Given the description of an element on the screen output the (x, y) to click on. 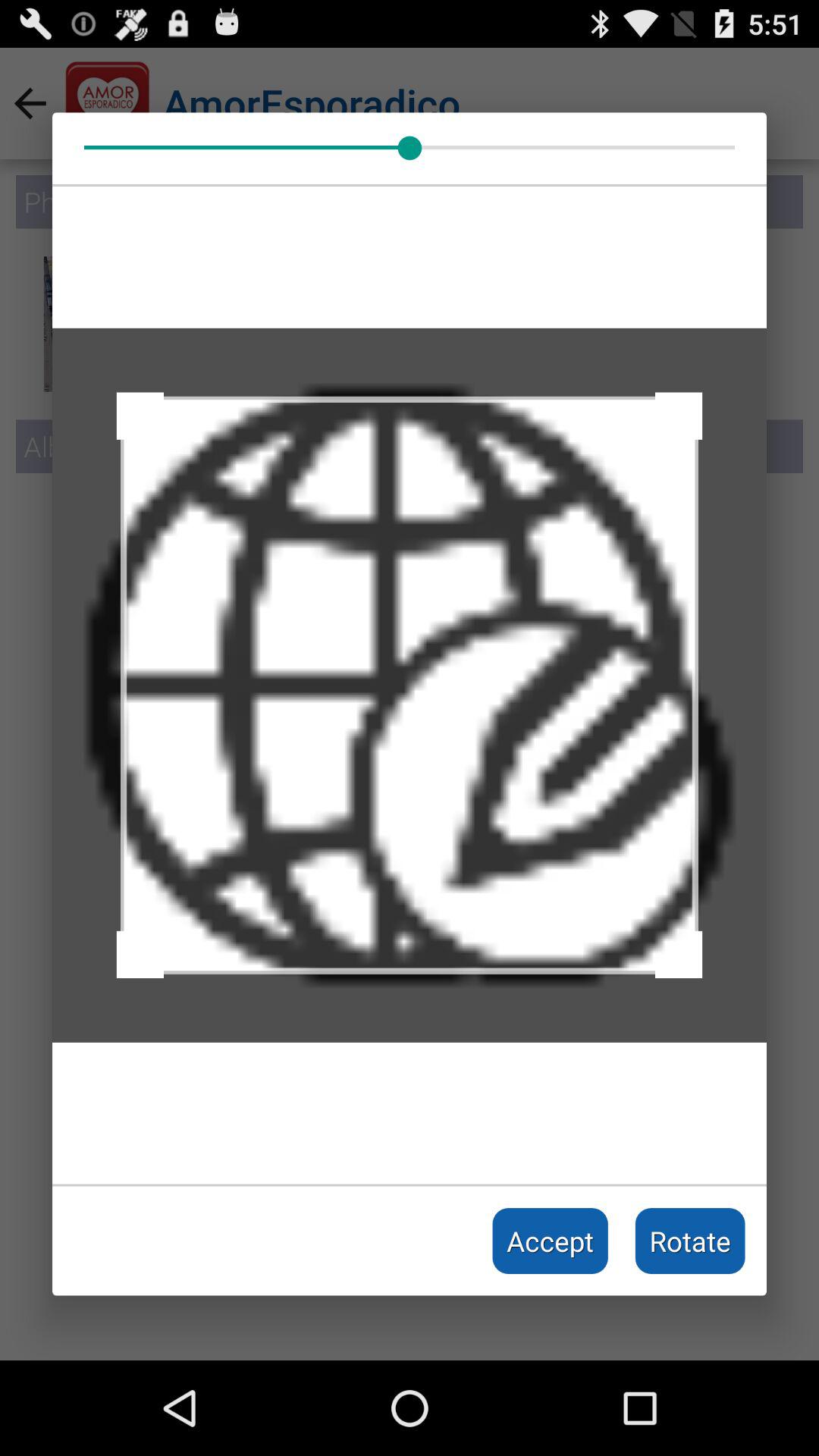
tap the item next to accept item (689, 1240)
